Given the description of an element on the screen output the (x, y) to click on. 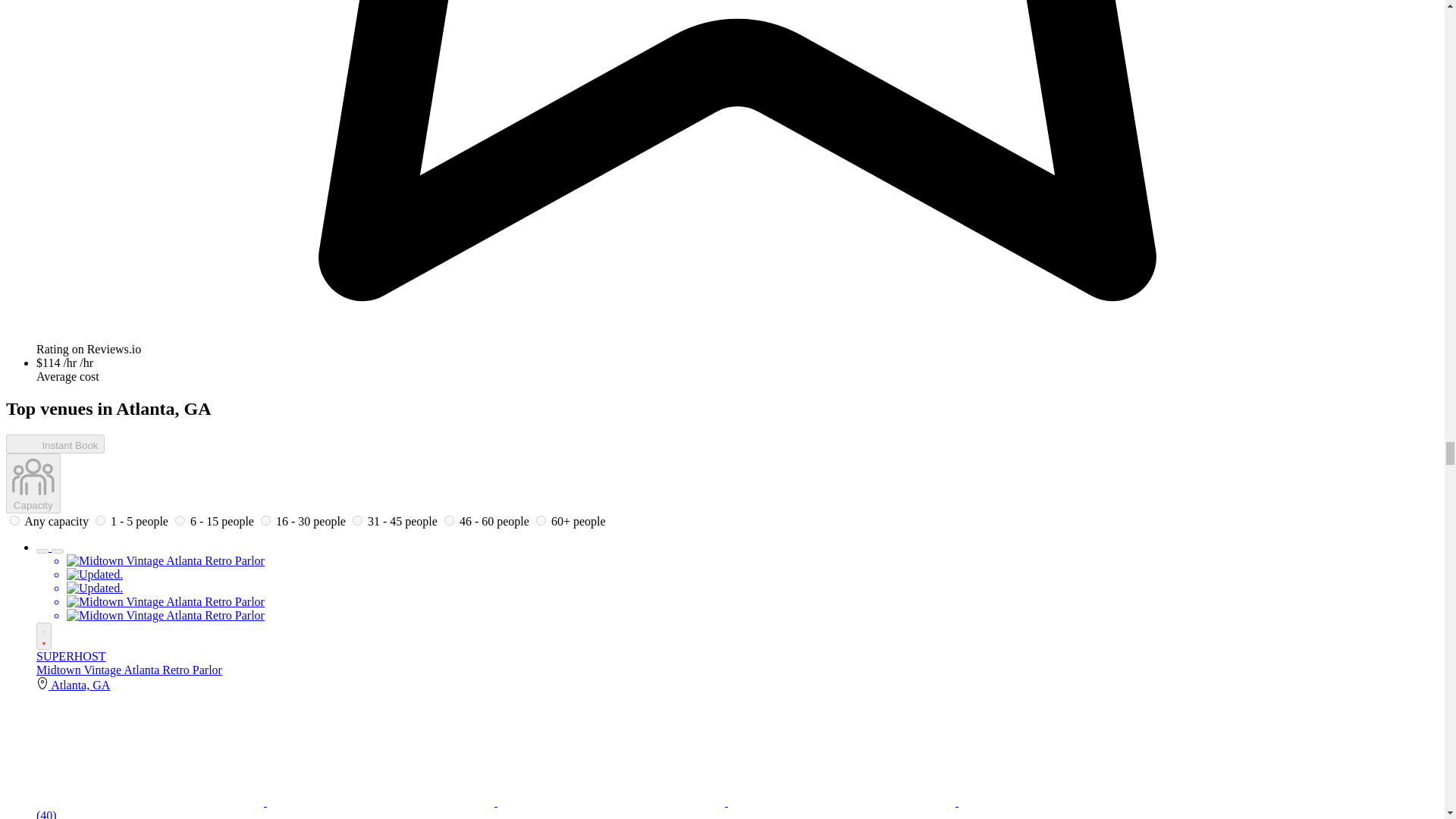
6-15 (179, 520)
46-60 (449, 520)
31-45 (357, 520)
Capacity (33, 483)
Instant book (54, 443)
16-30 (265, 520)
1-5 (100, 520)
